Given the description of an element on the screen output the (x, y) to click on. 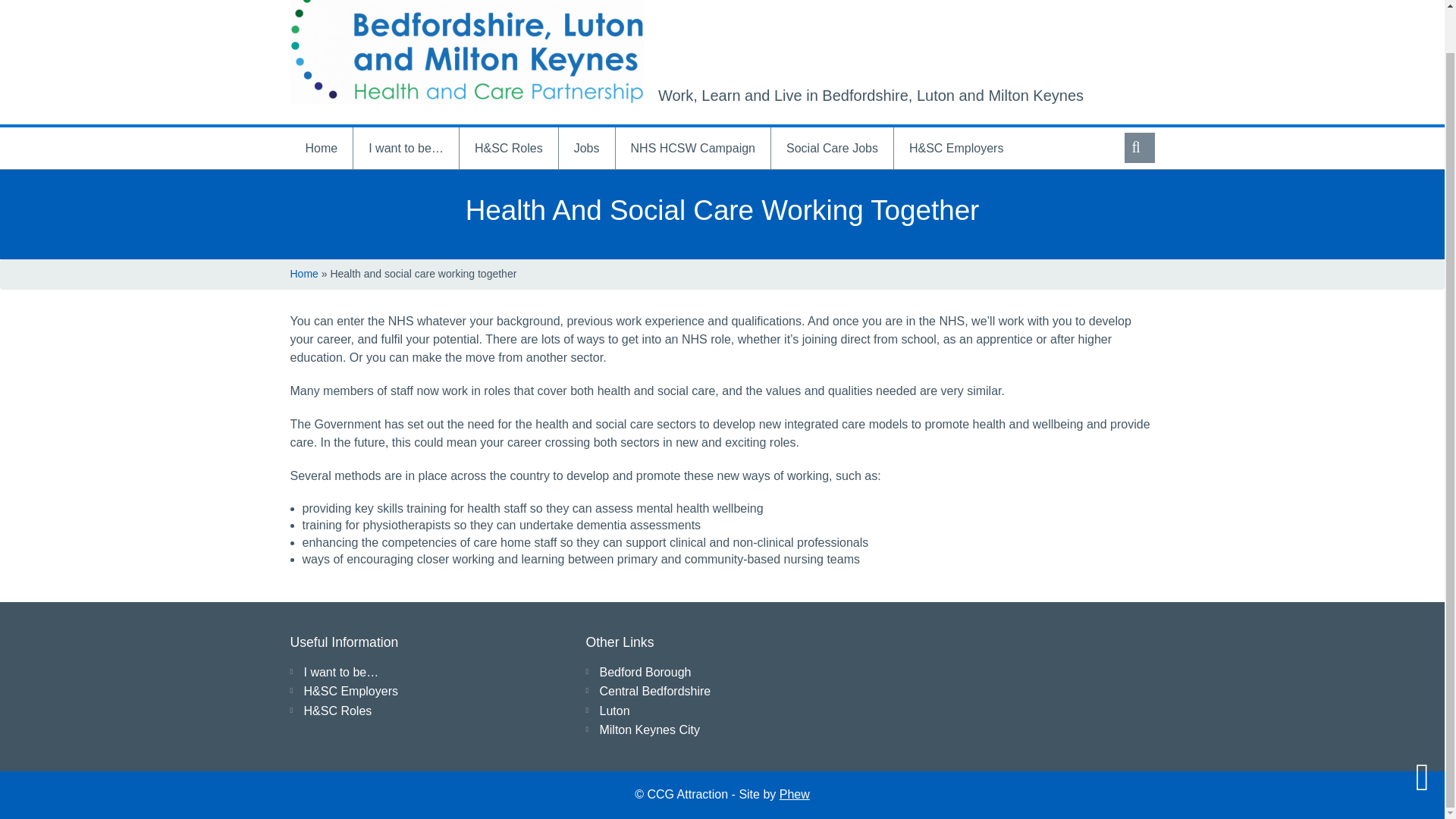
CCG Attraction (466, 52)
NHS HCSW Campaign (692, 147)
Jobs (586, 147)
Luton (613, 710)
Central Bedfordshire (654, 690)
Social Care Jobs (832, 147)
Home (303, 273)
Home (320, 147)
Milton Keynes City (649, 729)
Phew (793, 793)
Bedford Borough (644, 671)
